Given the description of an element on the screen output the (x, y) to click on. 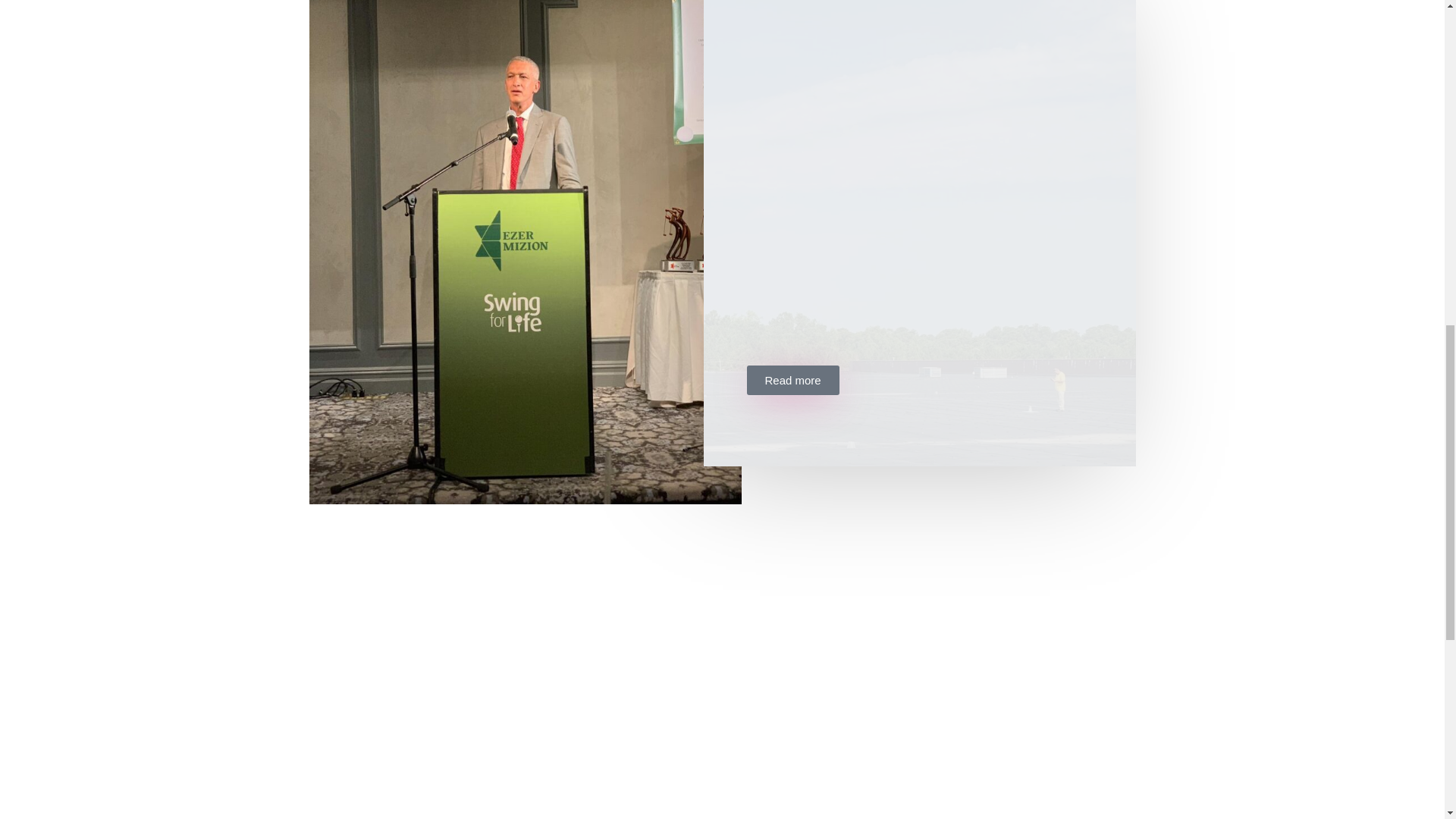
Read more (791, 379)
